Given the description of an element on the screen output the (x, y) to click on. 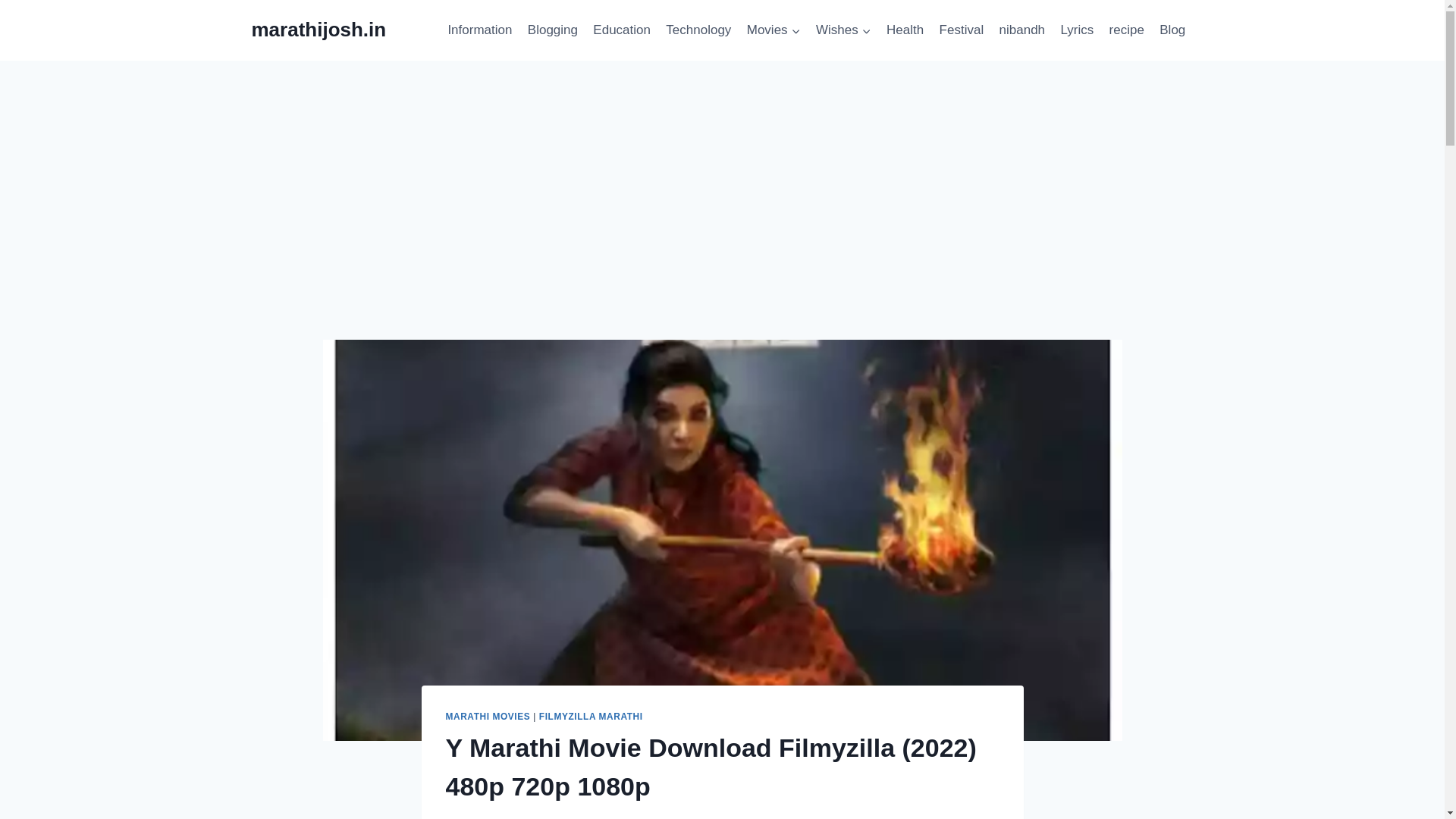
recipe (1125, 30)
Movies (773, 30)
Education (621, 30)
Wishes (843, 30)
Lyrics (1076, 30)
Advertisement (722, 227)
MARATHI MOVIES (488, 716)
nibandh (1021, 30)
Blog (1171, 30)
Health (905, 30)
Information (479, 30)
Festival (961, 30)
Blogging (552, 30)
marathijosh.in (319, 29)
Technology (698, 30)
